Given the description of an element on the screen output the (x, y) to click on. 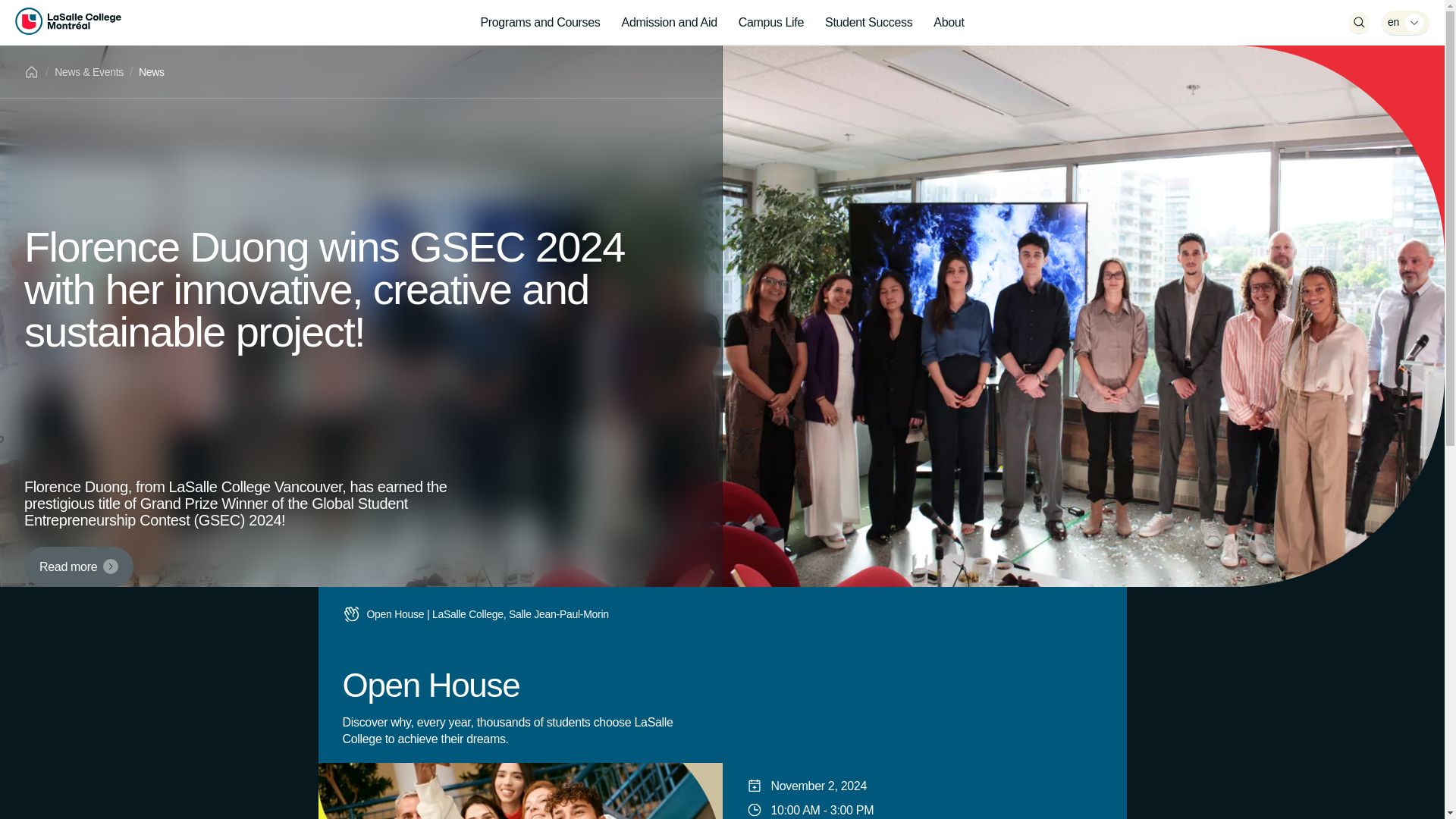
Home (31, 71)
Admission and Aid (669, 22)
Programs and Courses (539, 22)
Student Success (868, 22)
About (948, 22)
en (1405, 23)
News (151, 71)
Read more (78, 567)
Campus Life (770, 22)
